Given the description of an element on the screen output the (x, y) to click on. 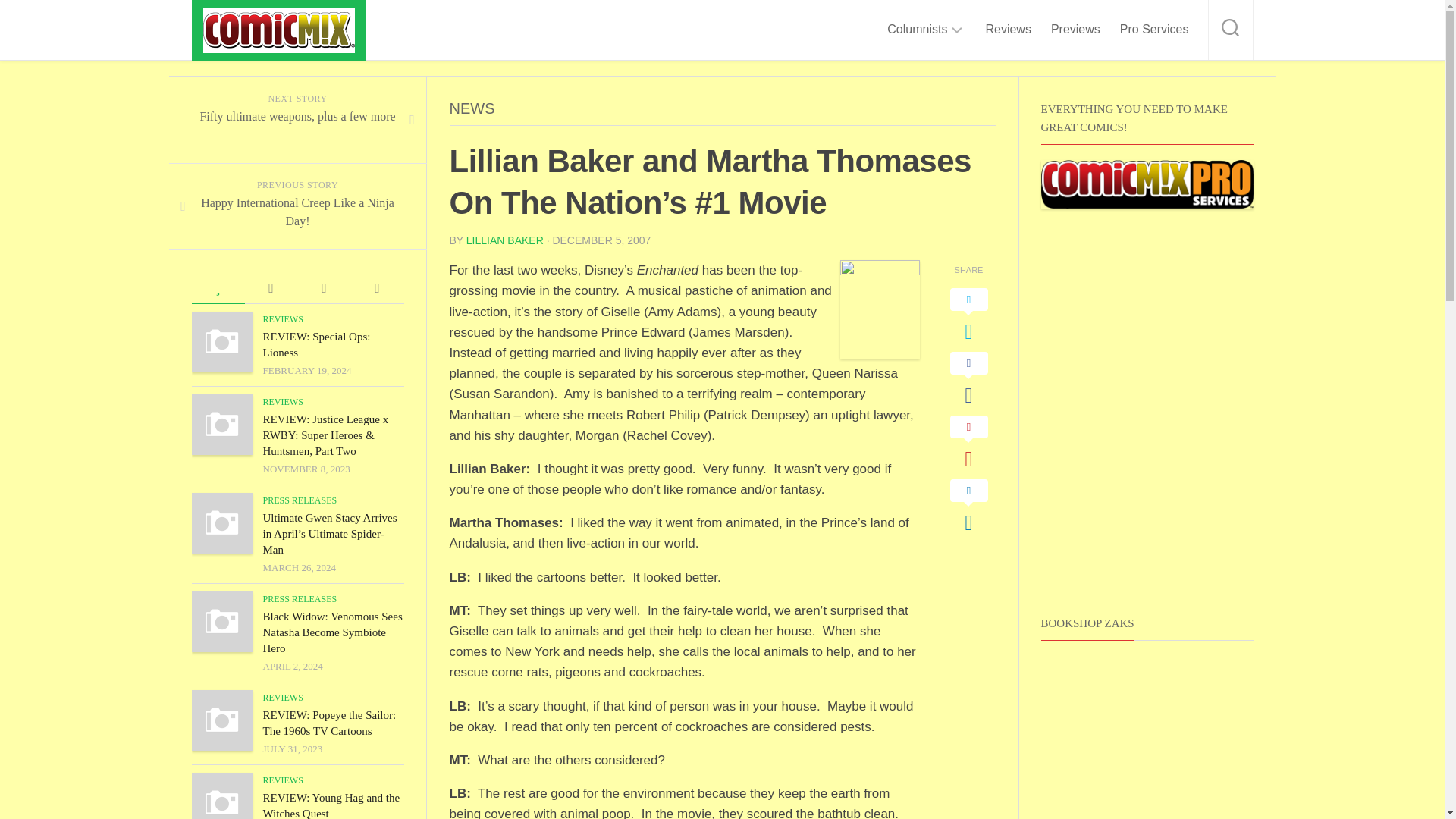
Pro Services (1154, 29)
Posts by Lillian Baker (504, 240)
Share on Pinterest (968, 443)
Tags (376, 287)
Reviews (1007, 29)
Share on LinkedIn (968, 507)
Share on X (968, 315)
Popular Posts (217, 287)
LILLIAN BAKER (504, 240)
NEWS (471, 108)
Recent Comments (270, 287)
Share on Facebook (968, 379)
Recent Posts (323, 287)
Columnists (916, 29)
Previews (1075, 29)
